Given the description of an element on the screen output the (x, y) to click on. 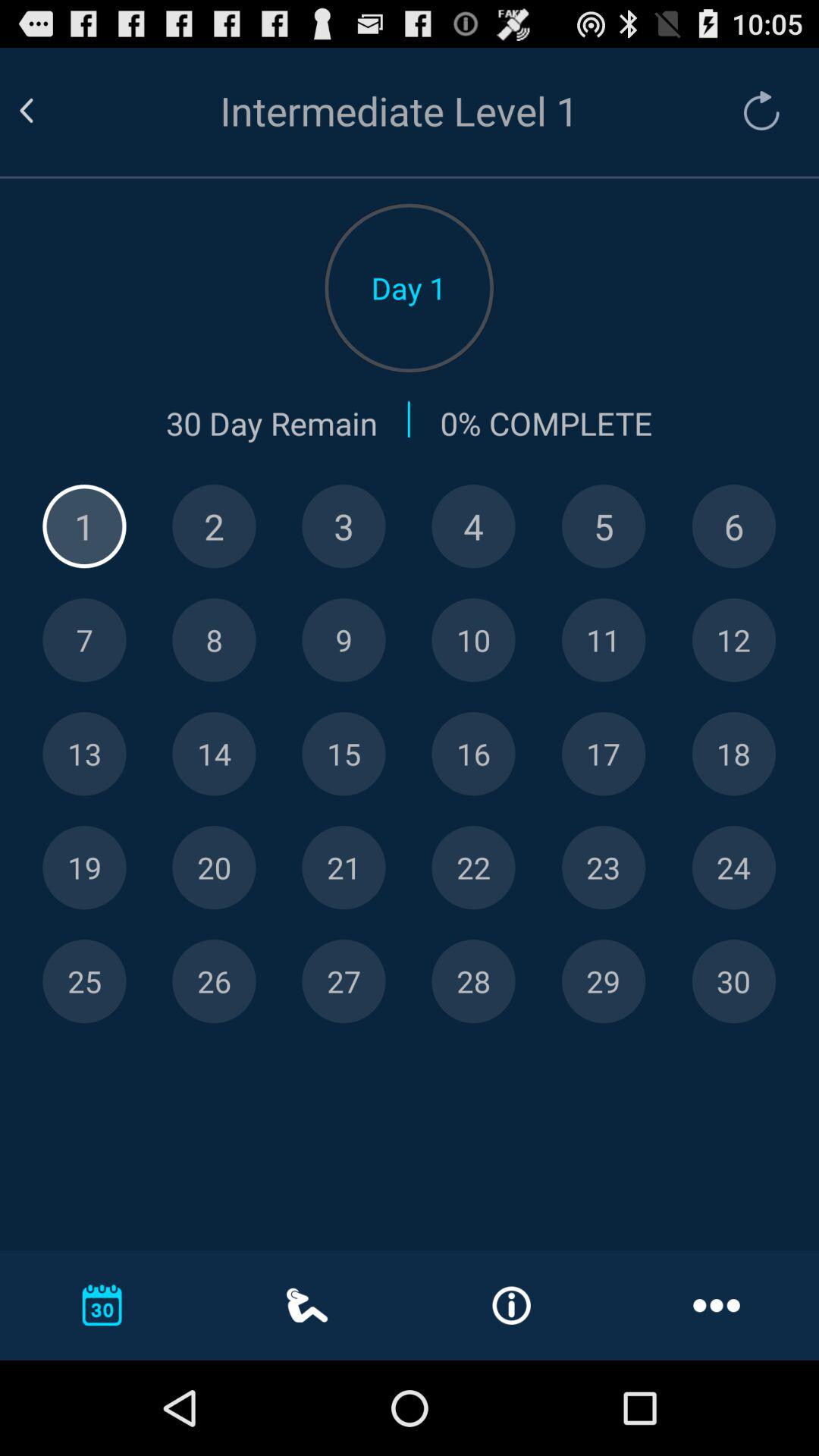
choose 9 (343, 639)
